Given the description of an element on the screen output the (x, y) to click on. 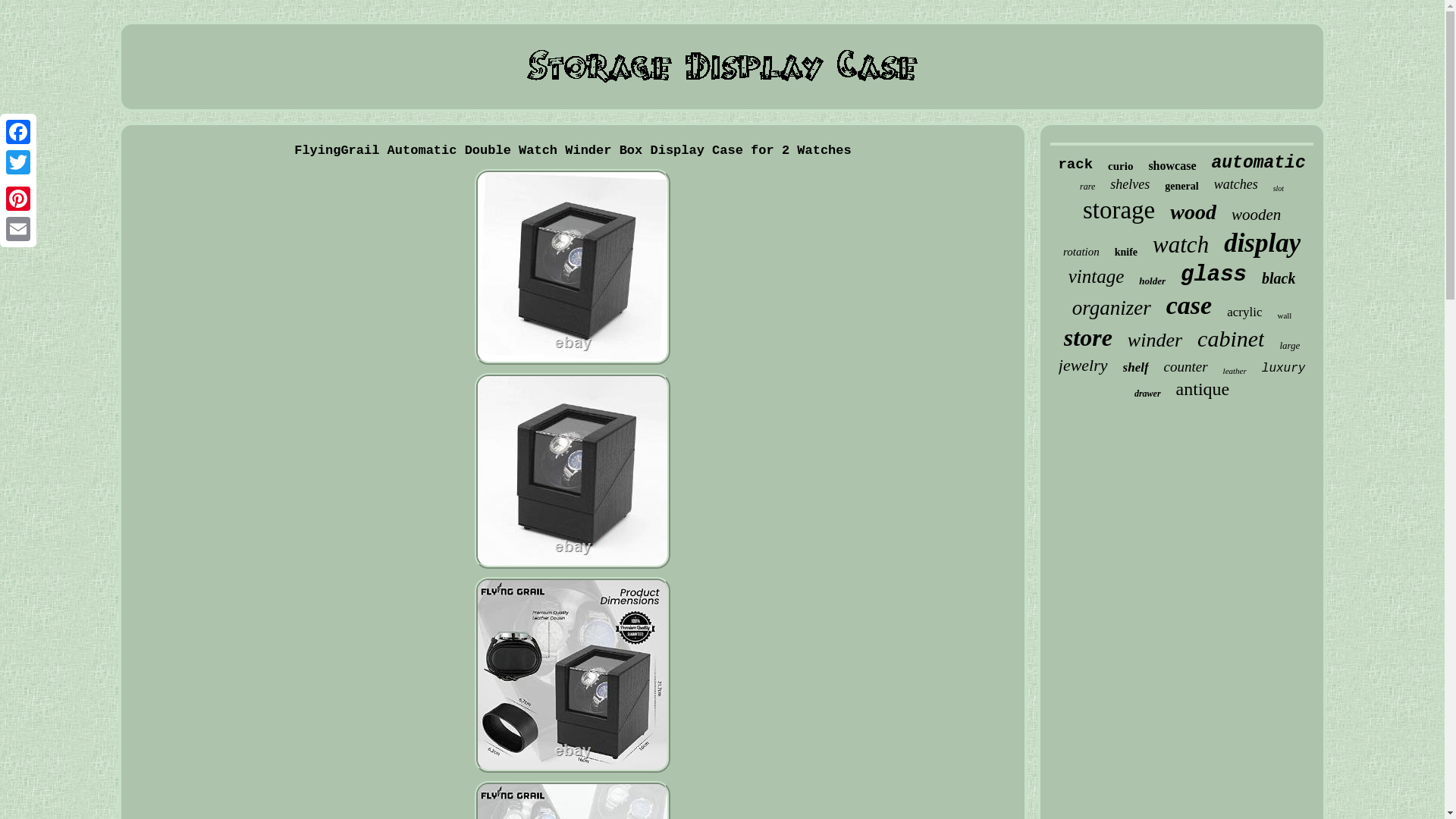
organizer (1111, 308)
knife (1126, 252)
Twitter (17, 162)
rare (1087, 186)
wooden (1256, 214)
showcase (1171, 165)
cabinet (1229, 338)
holder (1152, 281)
watches (1235, 184)
wall (1283, 315)
wood (1192, 211)
display (1262, 243)
